Given the description of an element on the screen output the (x, y) to click on. 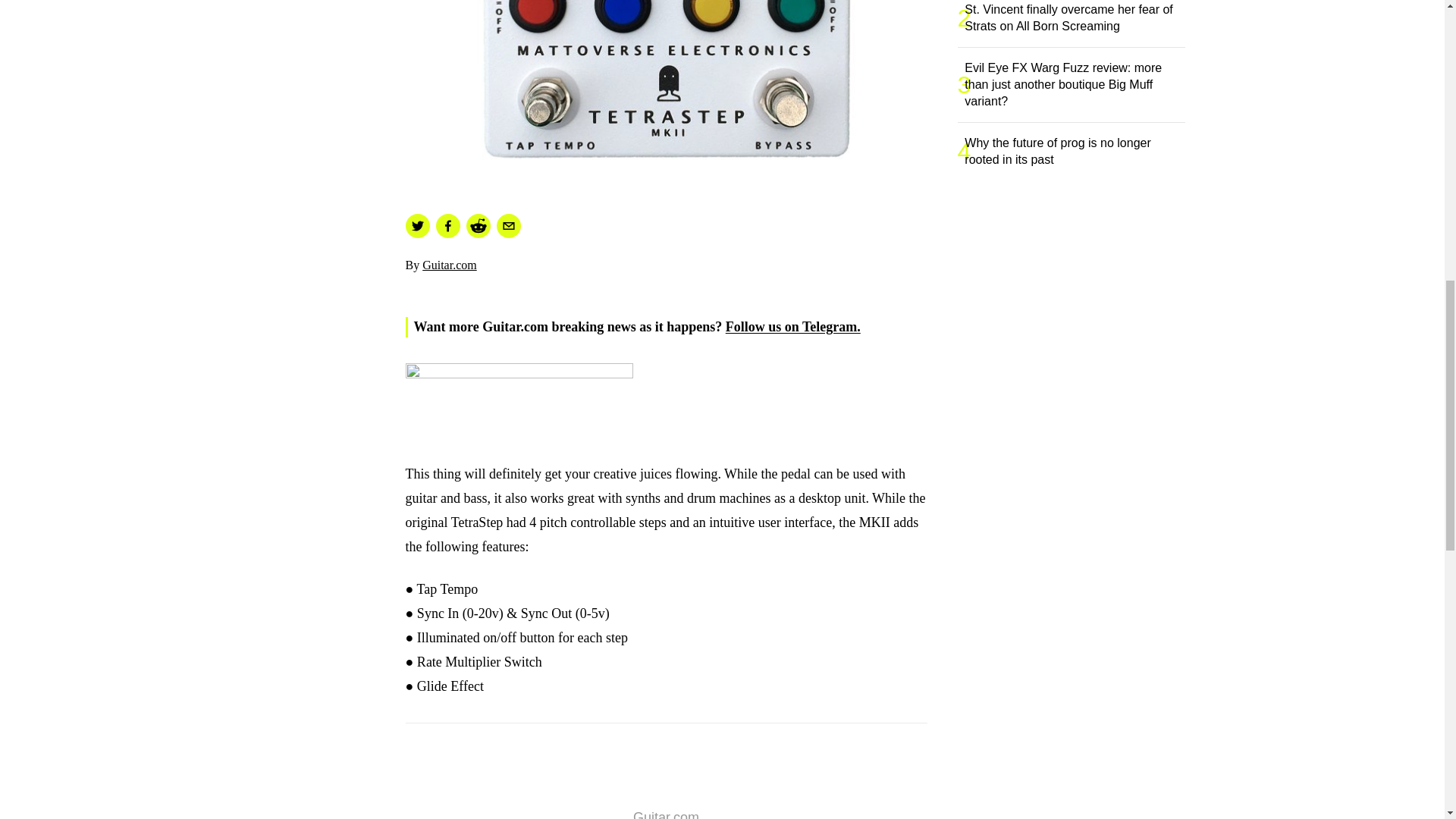
Published January 9, 2018 1:05PM (665, 283)
Why the future of prog is no longer rooted in its past (1078, 151)
Guitar.com (449, 264)
